Given the description of an element on the screen output the (x, y) to click on. 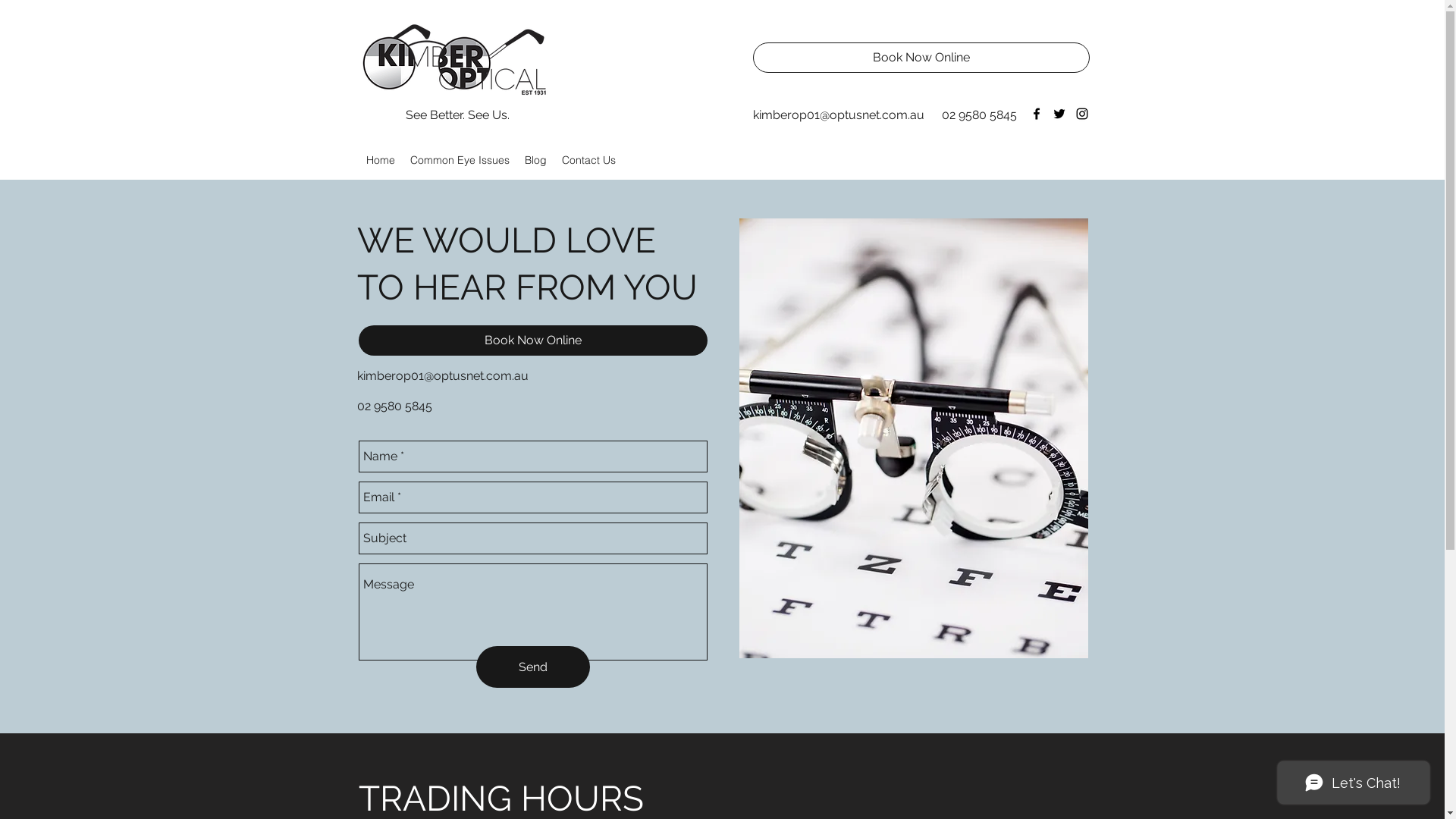
Blog Element type: text (535, 159)
Contact Us Element type: text (587, 159)
Book Now Online Element type: text (920, 57)
Home Element type: text (379, 159)
02 9580 5845 Element type: text (393, 405)
Send Element type: text (532, 666)
02 9580 5845 Element type: text (978, 114)
kimberop01@optusnet.com.au Element type: text (441, 375)
Book Now Online Element type: text (531, 340)
Common Eye Issues Element type: text (458, 159)
kimberop01@optusnet.com.au Element type: text (837, 114)
